Given the description of an element on the screen output the (x, y) to click on. 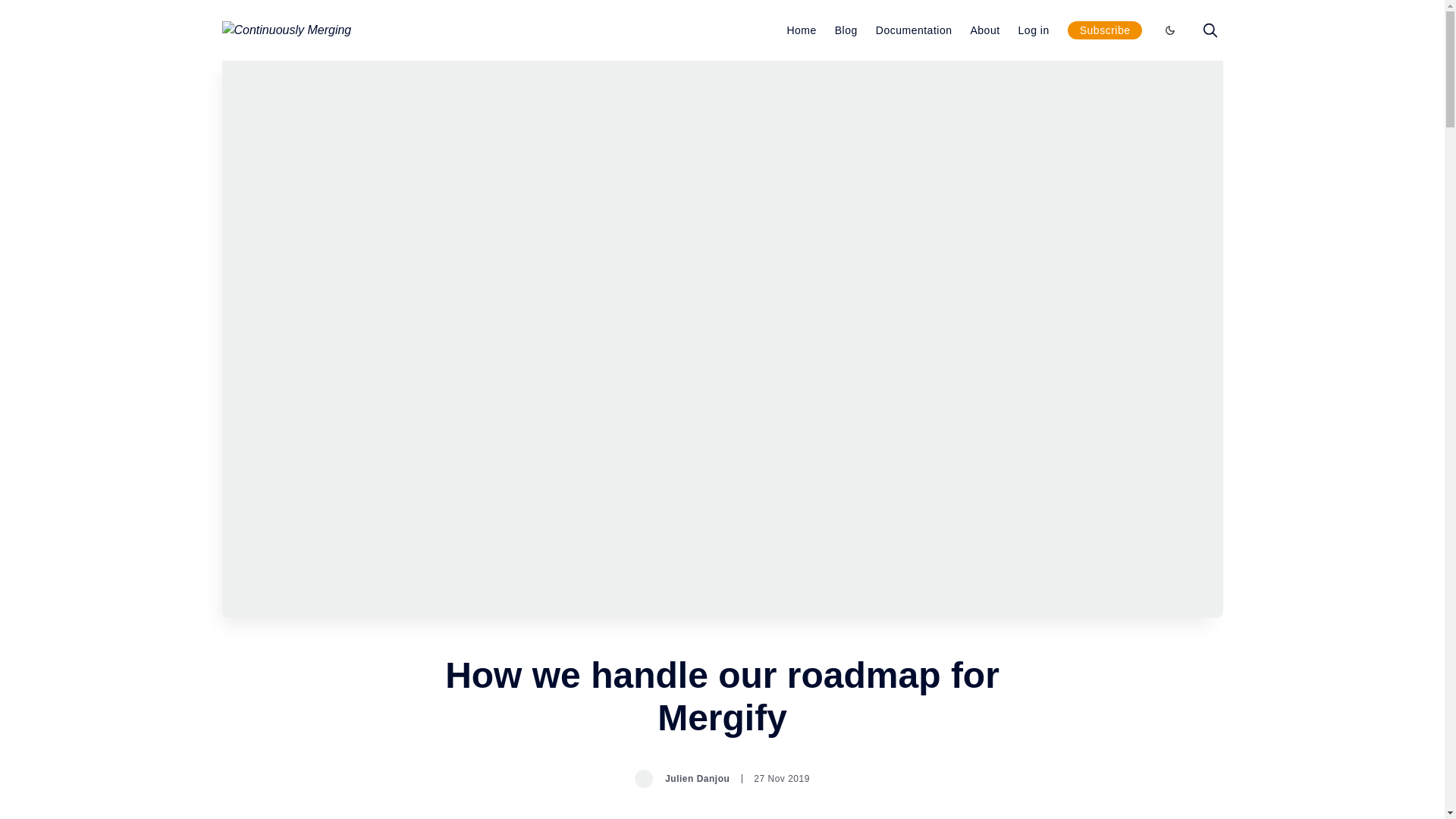
Log in (1033, 30)
Subscribe (1104, 30)
Home (800, 30)
Enable dark mode (1169, 30)
Documentation (914, 30)
Blog (845, 30)
Julien Danjou (681, 778)
About (983, 30)
Enable dark mode (1169, 30)
